Given the description of an element on the screen output the (x, y) to click on. 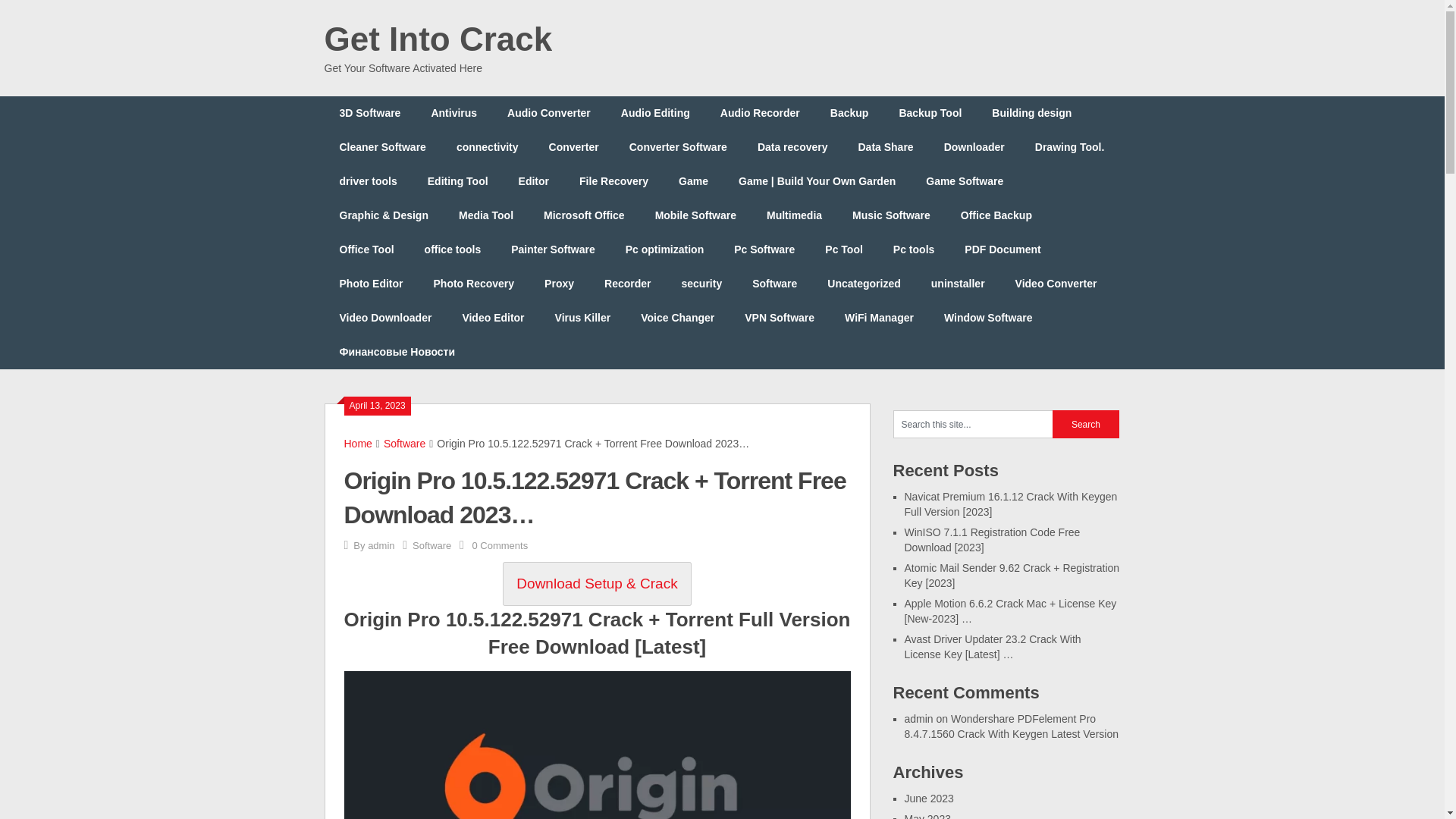
Pc Software (764, 249)
Antivirus (453, 113)
Game (693, 181)
Drawing Tool. (1069, 147)
office tools (452, 249)
Audio Recorder (759, 113)
Editing Tool (457, 181)
Audio Converter (548, 113)
File Recovery (613, 181)
Multimedia (794, 215)
